Given the description of an element on the screen output the (x, y) to click on. 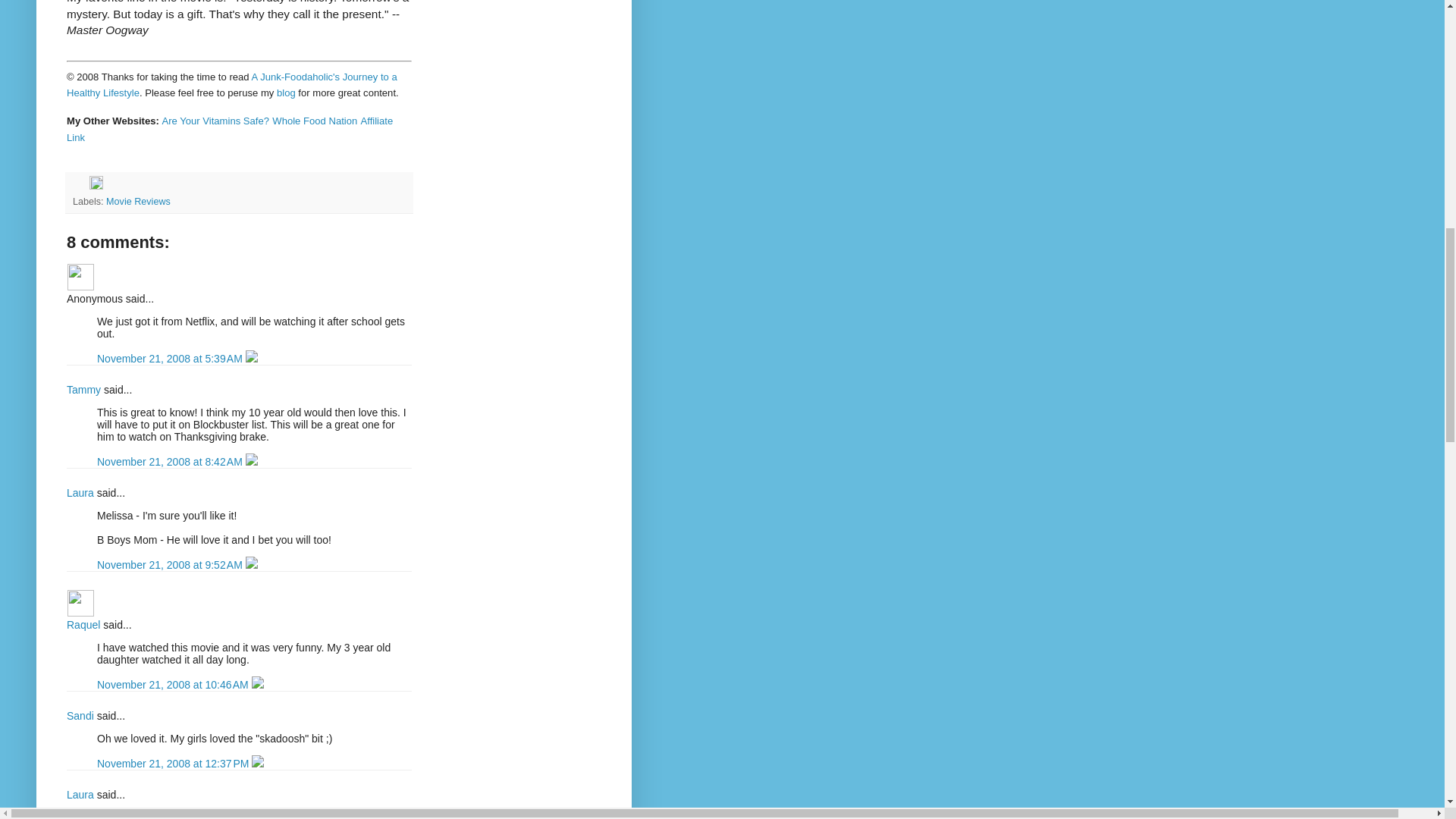
Delete Comment (251, 358)
Laura (80, 492)
blog (285, 91)
Delete Comment (251, 564)
Raquel (83, 624)
comment permalink (174, 763)
comment permalink (171, 461)
Delete Comment (251, 461)
comment permalink (171, 564)
Are Your Vitamins Safe? (215, 119)
Delete Comment (257, 684)
Affiliate Link (229, 128)
